Given the description of an element on the screen output the (x, y) to click on. 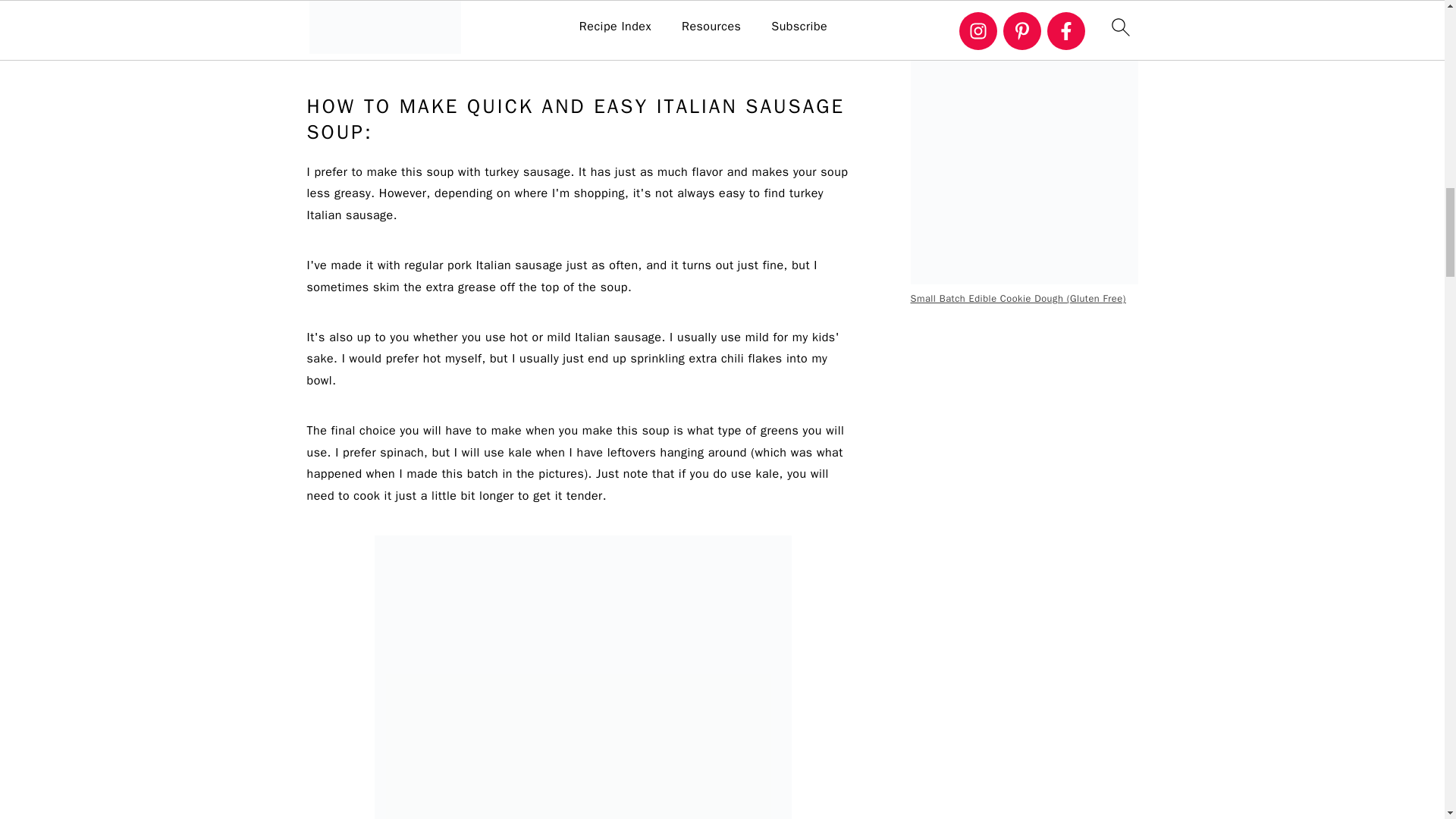
Quick and Easy Italian Sausage Soup (583, 24)
Quick and Easy Italian Sausage Soup (583, 677)
